Given the description of an element on the screen output the (x, y) to click on. 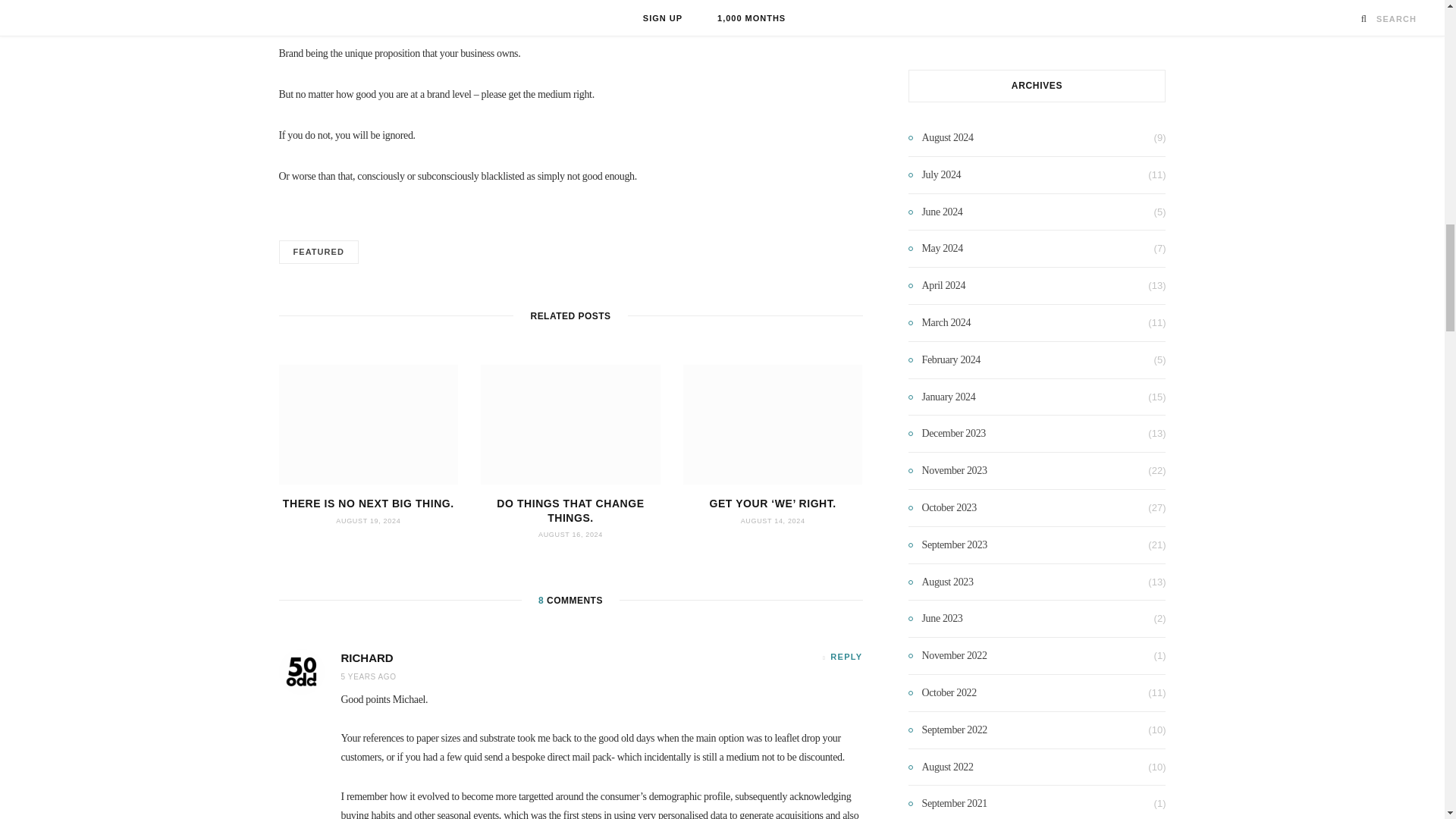
THERE IS NO NEXT BIG THING. (368, 503)
5 YEARS AGO (368, 676)
There is no next big thing. (368, 424)
AUGUST 16, 2024 (570, 534)
AUGUST 19, 2024 (368, 520)
AUGUST 14, 2024 (773, 520)
Do things that change things. (570, 424)
FEATURED (318, 251)
DO THINGS THAT CHANGE THINGS. (569, 510)
REPLY (841, 657)
